Given the description of an element on the screen output the (x, y) to click on. 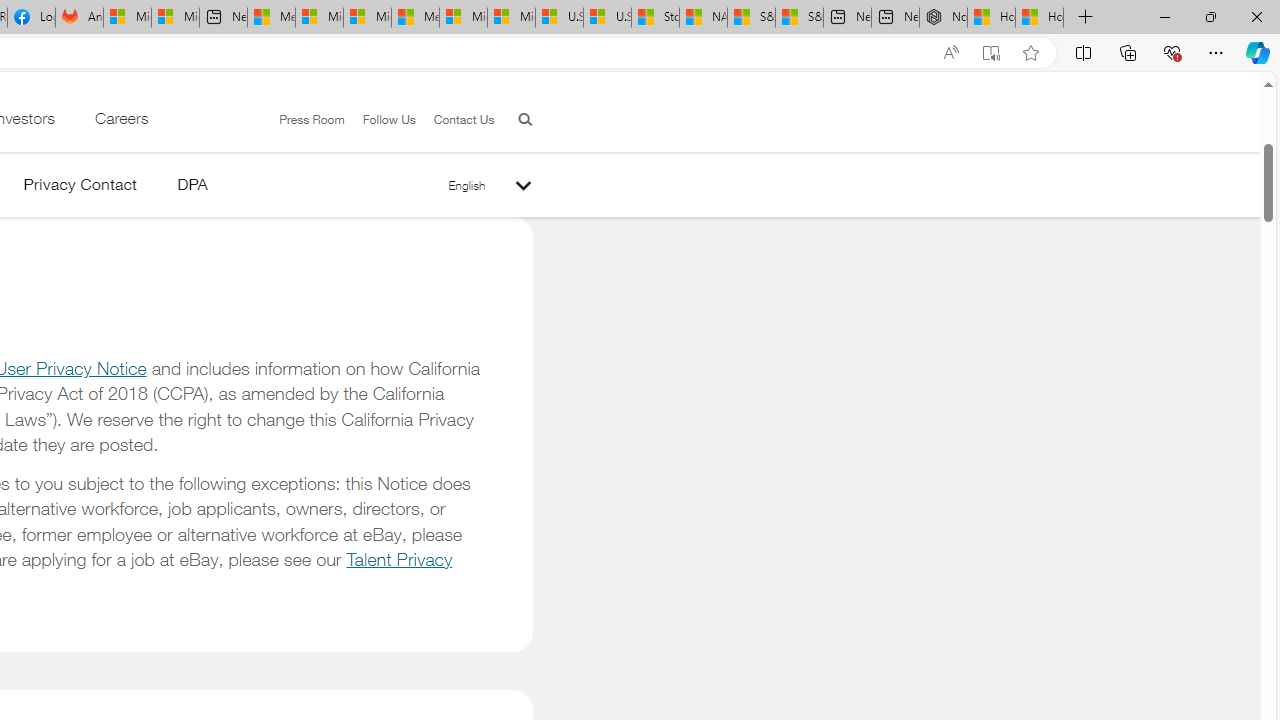
DPA (191, 188)
How to Use a Monitor With Your Closed Laptop (1039, 17)
Privacy Contact (80, 188)
Microsoft account | Home (367, 17)
